Given the description of an element on the screen output the (x, y) to click on. 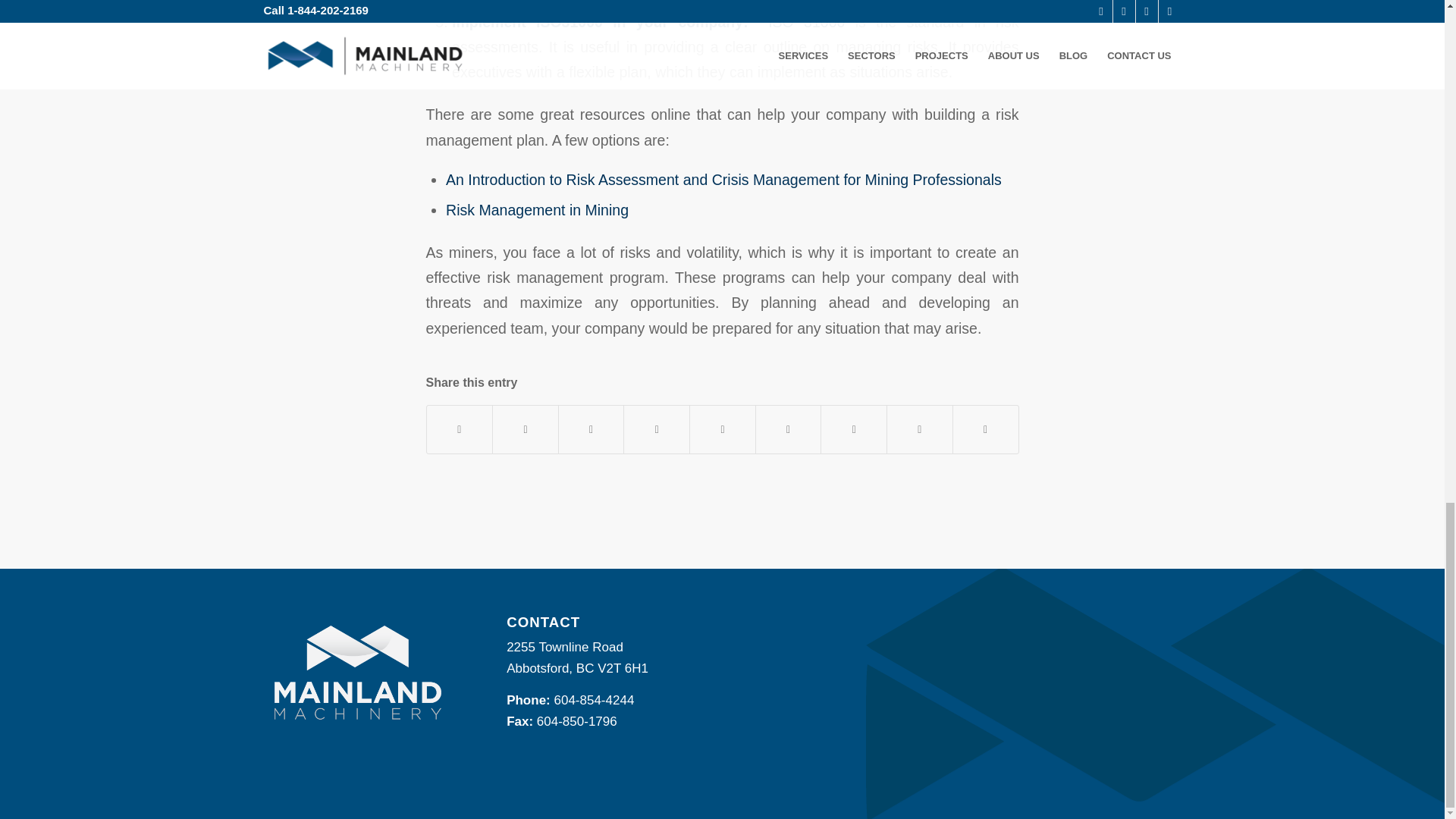
ISO 31000 (806, 21)
Risk Management in Mining (536, 209)
